Given the description of an element on the screen output the (x, y) to click on. 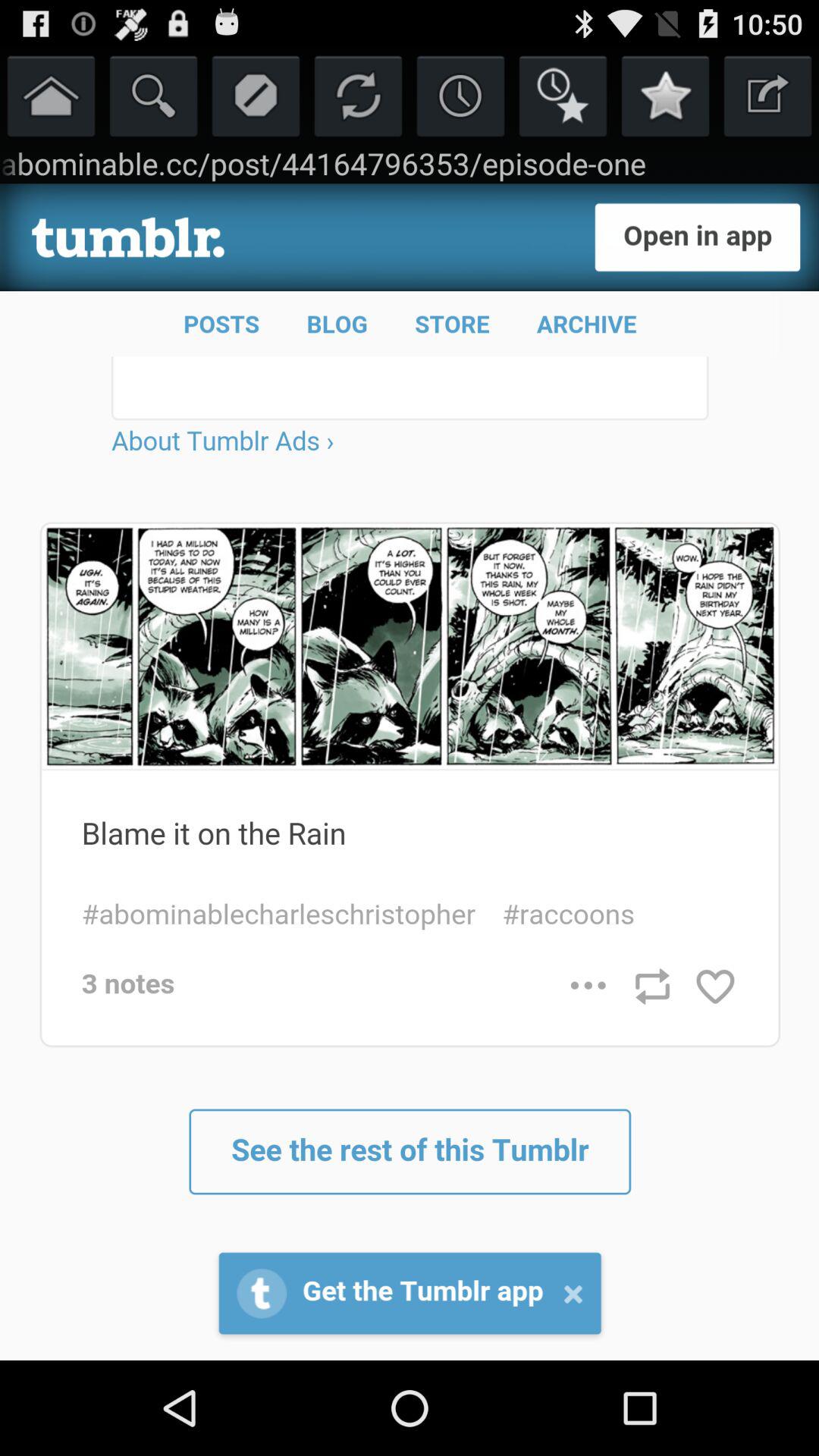
return home (51, 95)
